Given the description of an element on the screen output the (x, y) to click on. 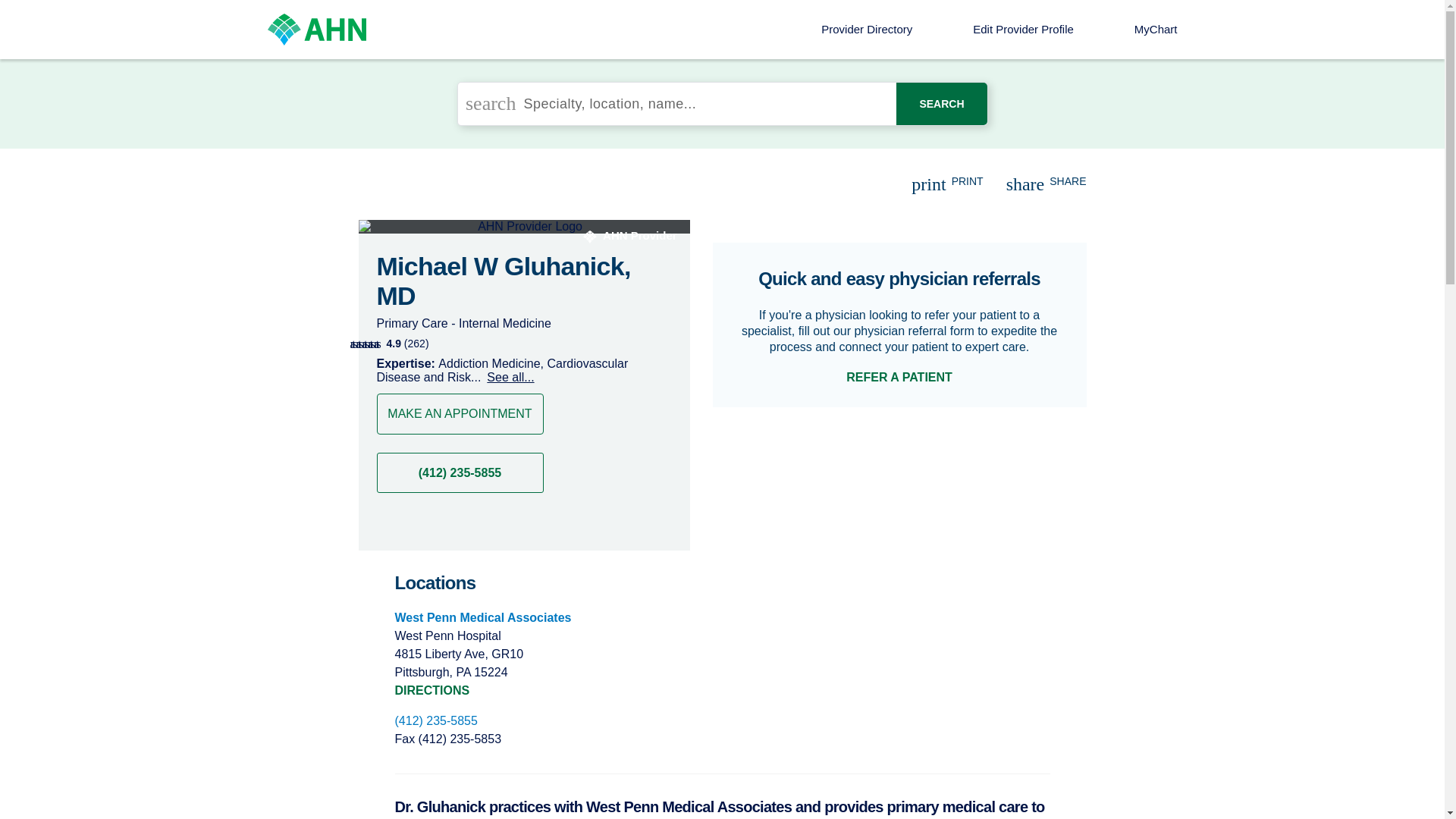
SEARCH (941, 103)
REFER A PATIENT (898, 377)
DIRECTIONS (431, 689)
Provider Directory (866, 29)
Edit Provider Profile (1023, 29)
West Penn Medical Associates (482, 617)
MyChart (1155, 29)
See all... (507, 377)
MAKE AN APPOINTMENT (459, 413)
